Given the description of an element on the screen output the (x, y) to click on. 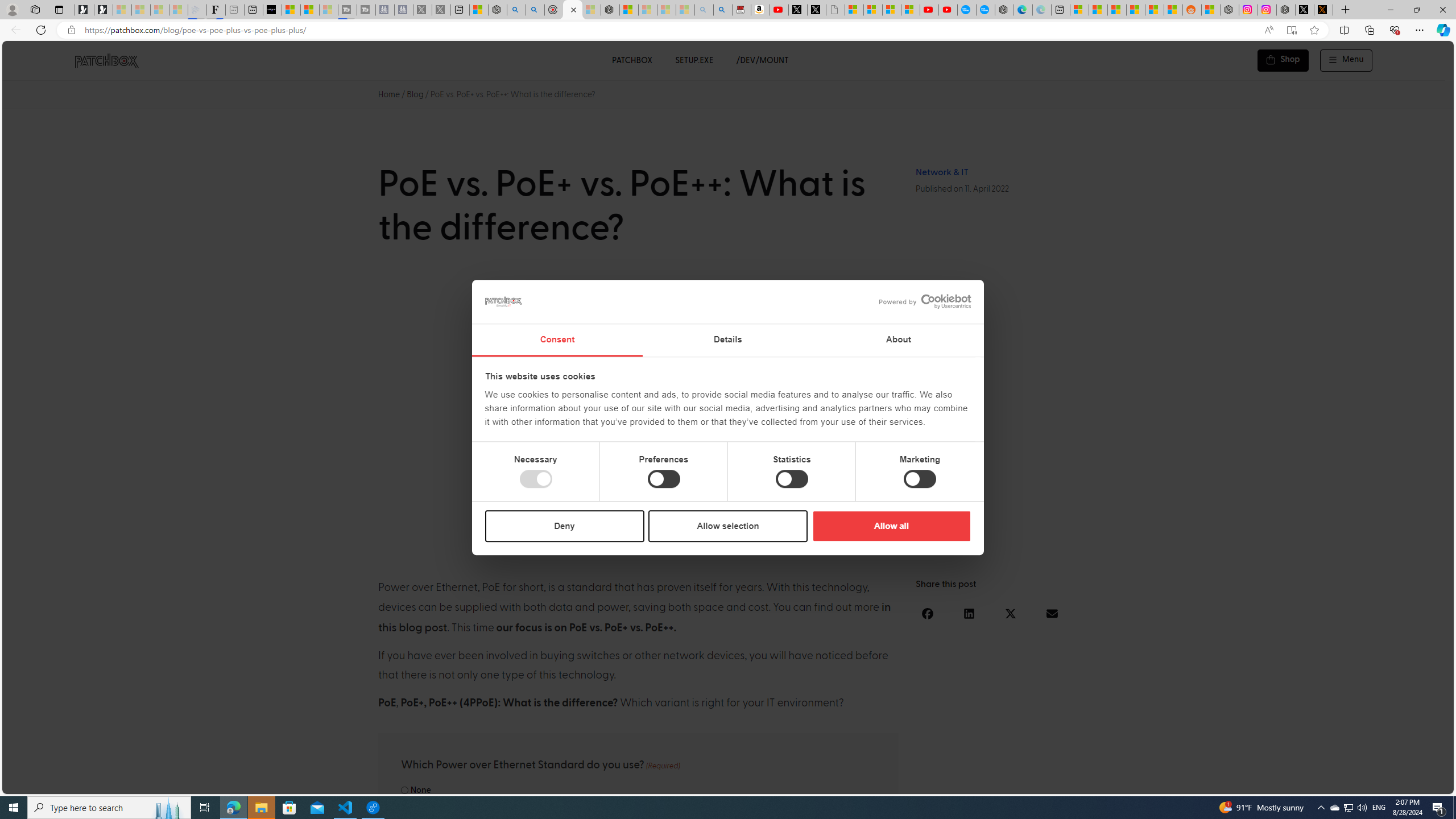
PoE vs. PoE+ vs. PoE++ (727, 413)
Share on email (1051, 613)
Untitled (835, 9)
Menu Off-Canvas (1346, 60)
Shanghai, China hourly forecast | Microsoft Weather (1116, 9)
Language switcher : Greek (1380, 782)
Language switcher : Dutch (1276, 782)
Nordace - Nordace has arrived Hong Kong (1004, 9)
SETUP.EXE (694, 60)
Newsletter Sign Up (102, 9)
Powered by Cookiebot (925, 301)
poe - Search (515, 9)
